Given the description of an element on the screen output the (x, y) to click on. 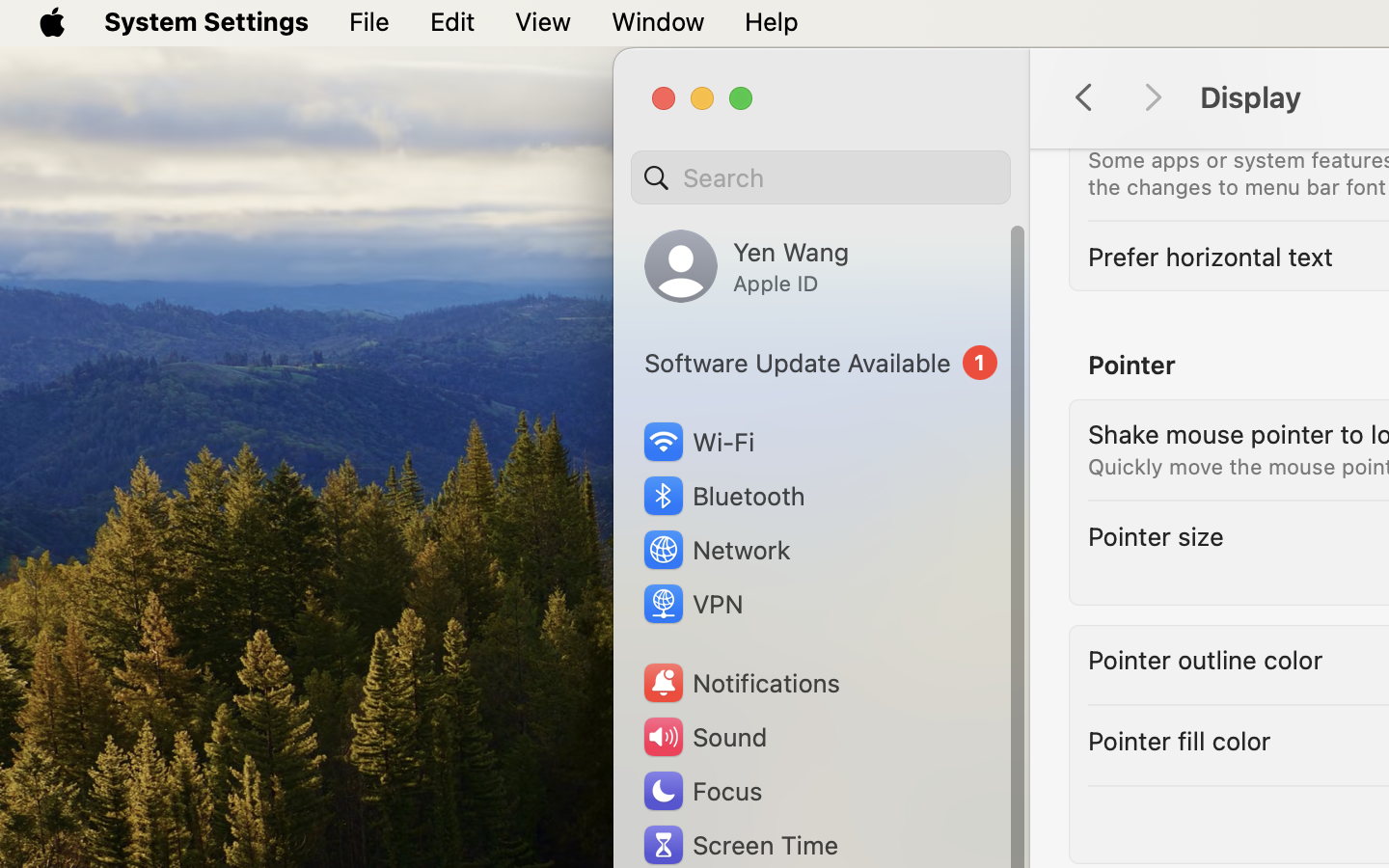
Wi‑Fi Element type: AXStaticText (697, 441)
Network Element type: AXStaticText (715, 549)
Notifications Element type: AXStaticText (740, 682)
Focus Element type: AXStaticText (701, 790)
Pointer size Element type: AXStaticText (1156, 535)
